Given the description of an element on the screen output the (x, y) to click on. 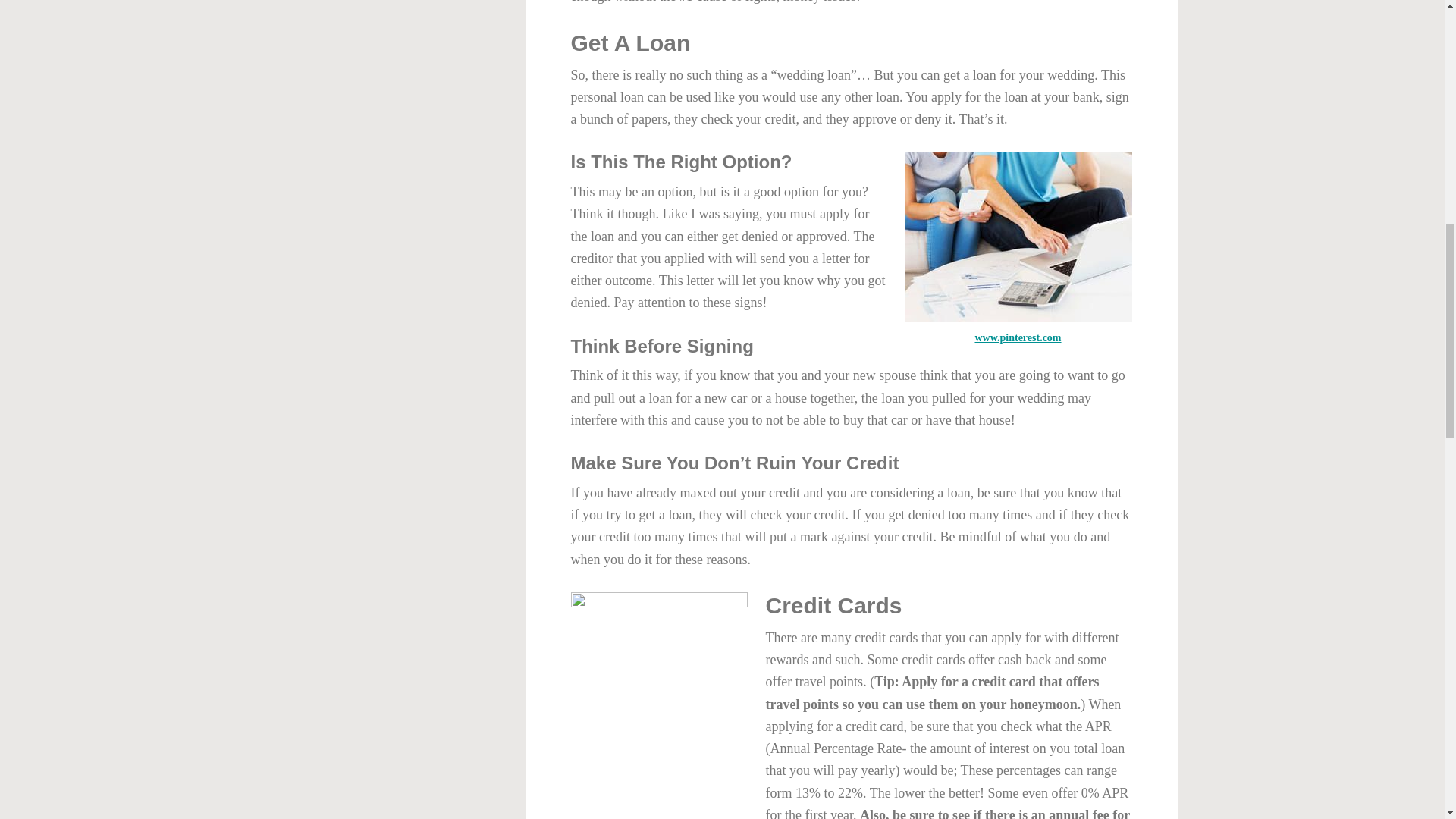
www.pinterest.com (1017, 337)
